Given the description of an element on the screen output the (x, y) to click on. 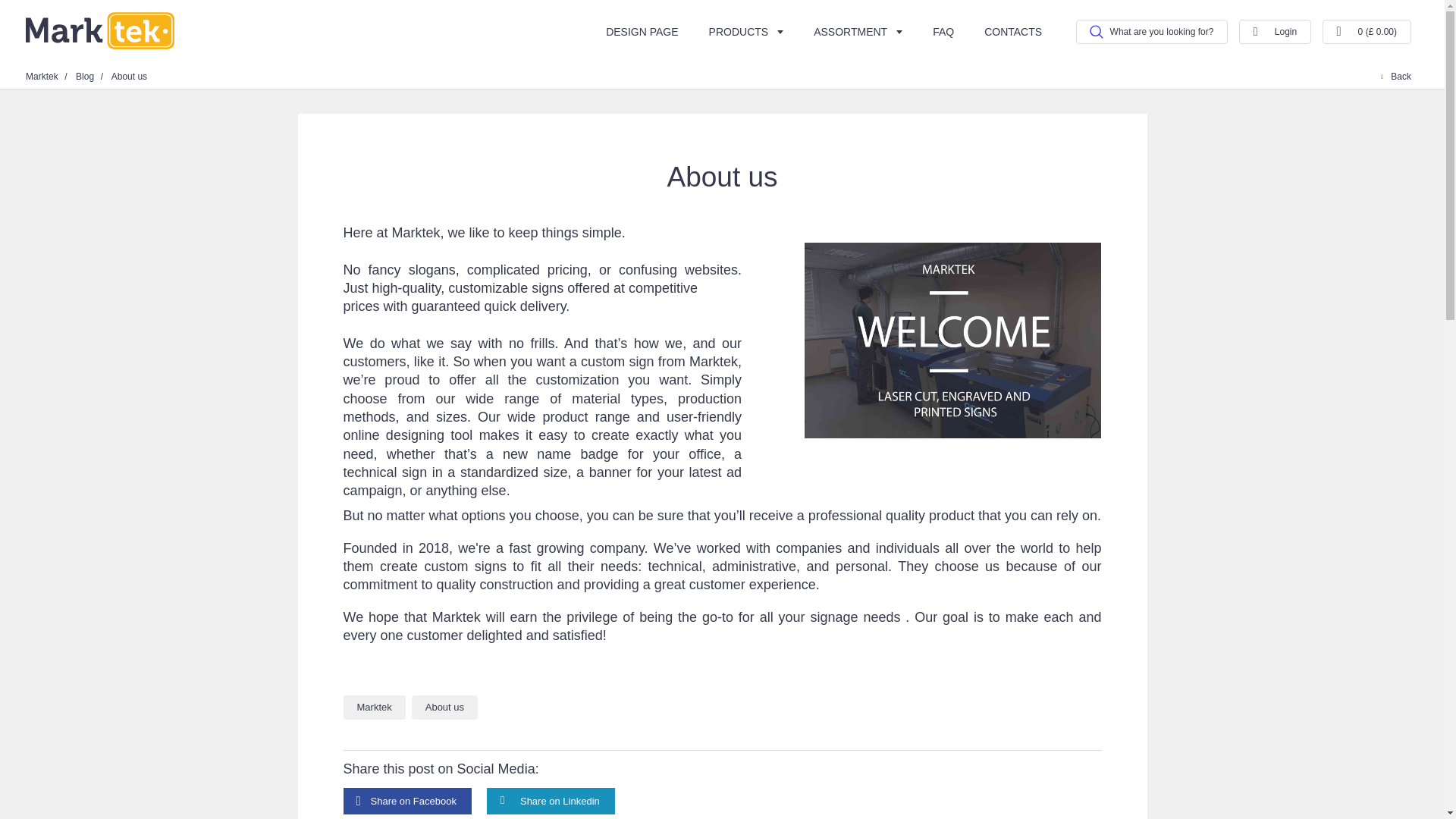
DESIGN PAGE (641, 31)
